Given the description of an element on the screen output the (x, y) to click on. 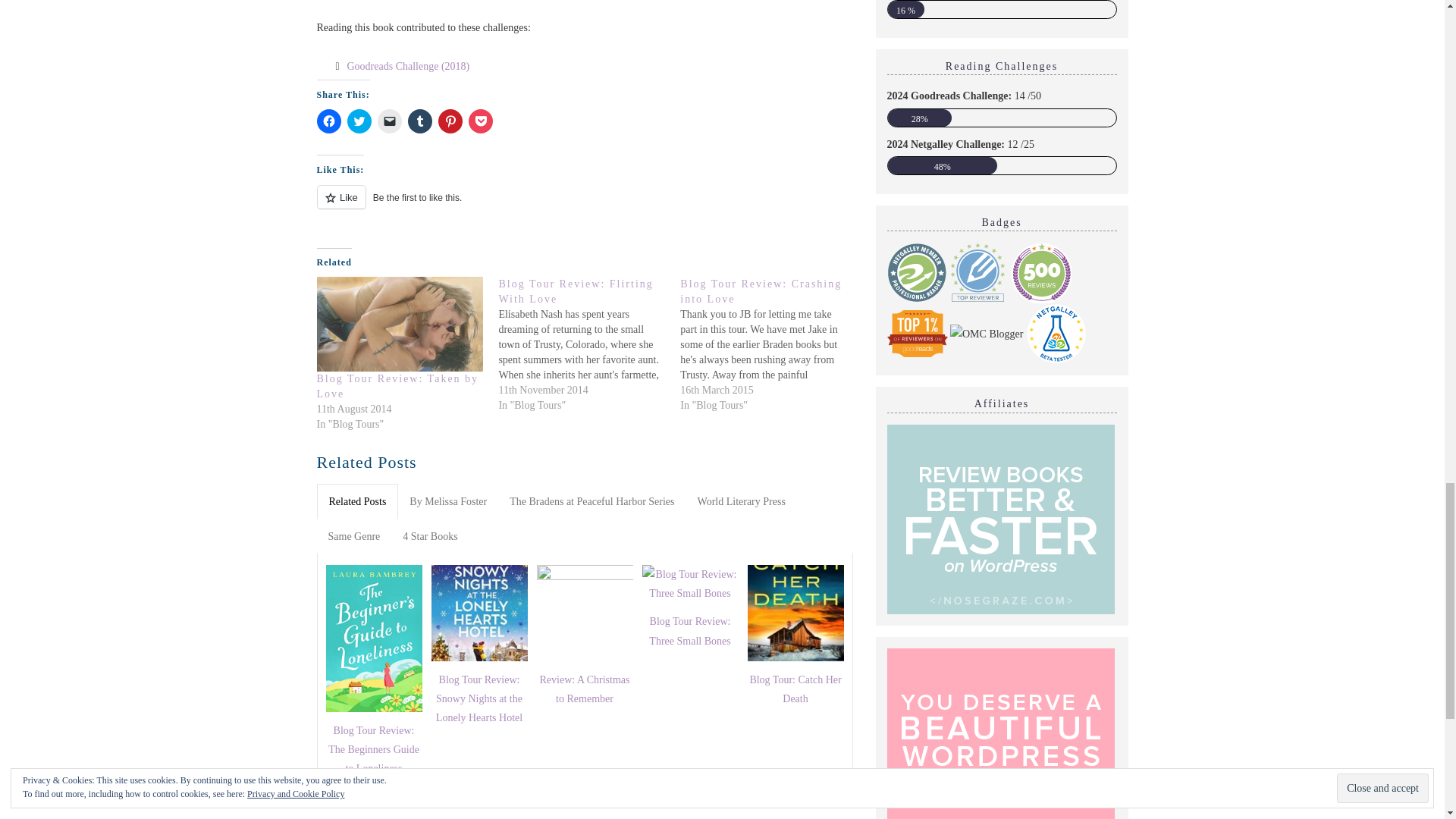
Click to share on Pinterest (450, 120)
Click to share on Tumblr (419, 120)
Blog Tour Review: Taken by Love (400, 324)
Like or Reblog (585, 205)
Blog Tour Review: Crashing into Love (770, 344)
Click to share on Twitter (359, 120)
Click to email a link to a friend (389, 120)
Blog Tour Review: Flirting With Love (588, 344)
Click to share on Pocket (480, 120)
Click to share on Facebook (328, 120)
Blog Tour Review: Taken by Love (398, 386)
Blog Tour Review: Flirting With Love (574, 291)
Blog Tour Review: Crashing into Love (760, 291)
